Given the description of an element on the screen output the (x, y) to click on. 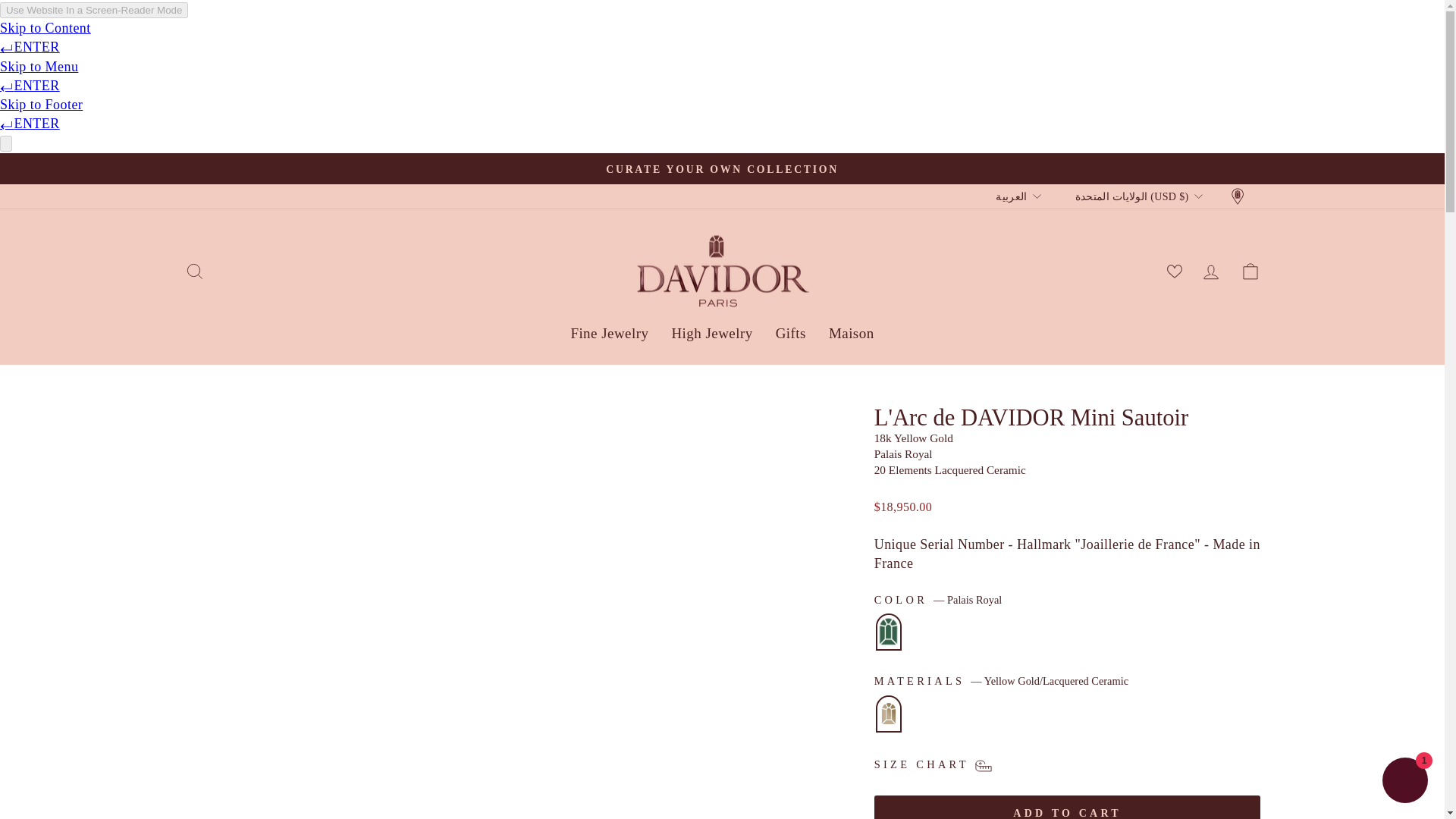
Shopify online store chat (1404, 781)
